Given the description of an element on the screen output the (x, y) to click on. 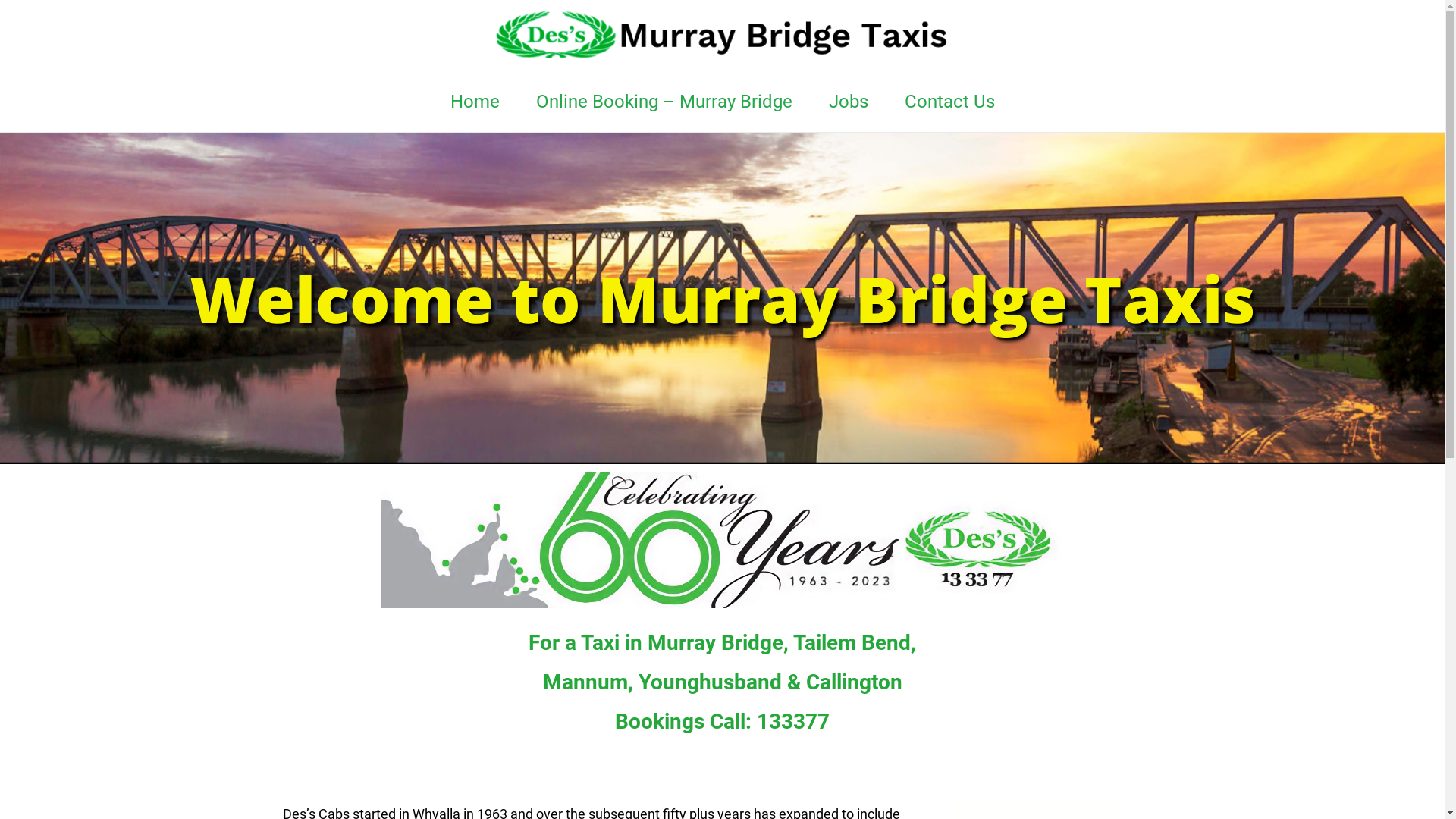
Home Element type: text (474, 101)
Contact Us Element type: text (948, 101)
Jobs Element type: text (847, 101)
